Given the description of an element on the screen output the (x, y) to click on. 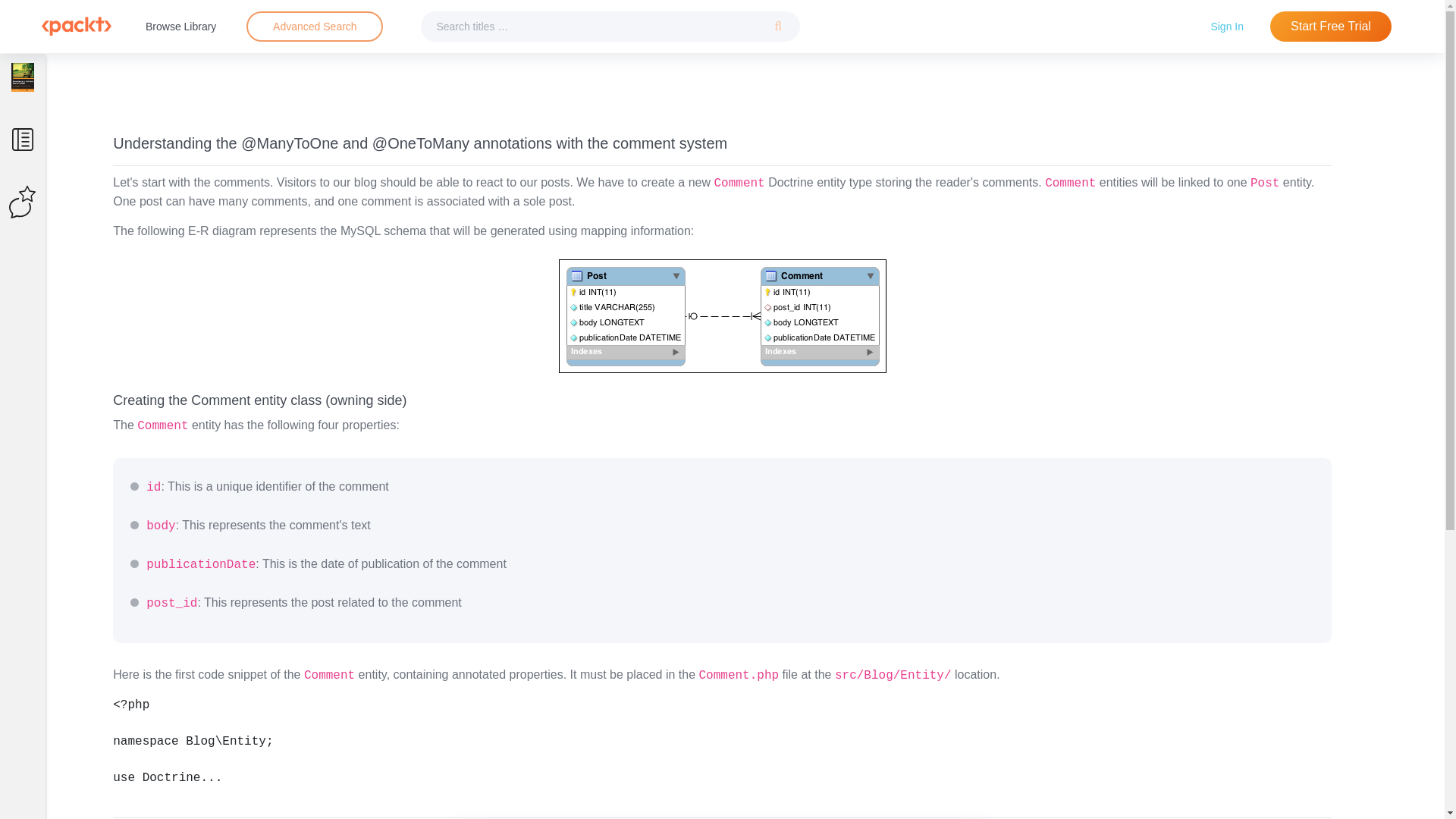
Browse Library (180, 26)
Sign In (1227, 26)
Start Free Trial (1330, 26)
Advanced Search (314, 26)
Advanced Search (315, 26)
Advanced search (314, 26)
